Given the description of an element on the screen output the (x, y) to click on. 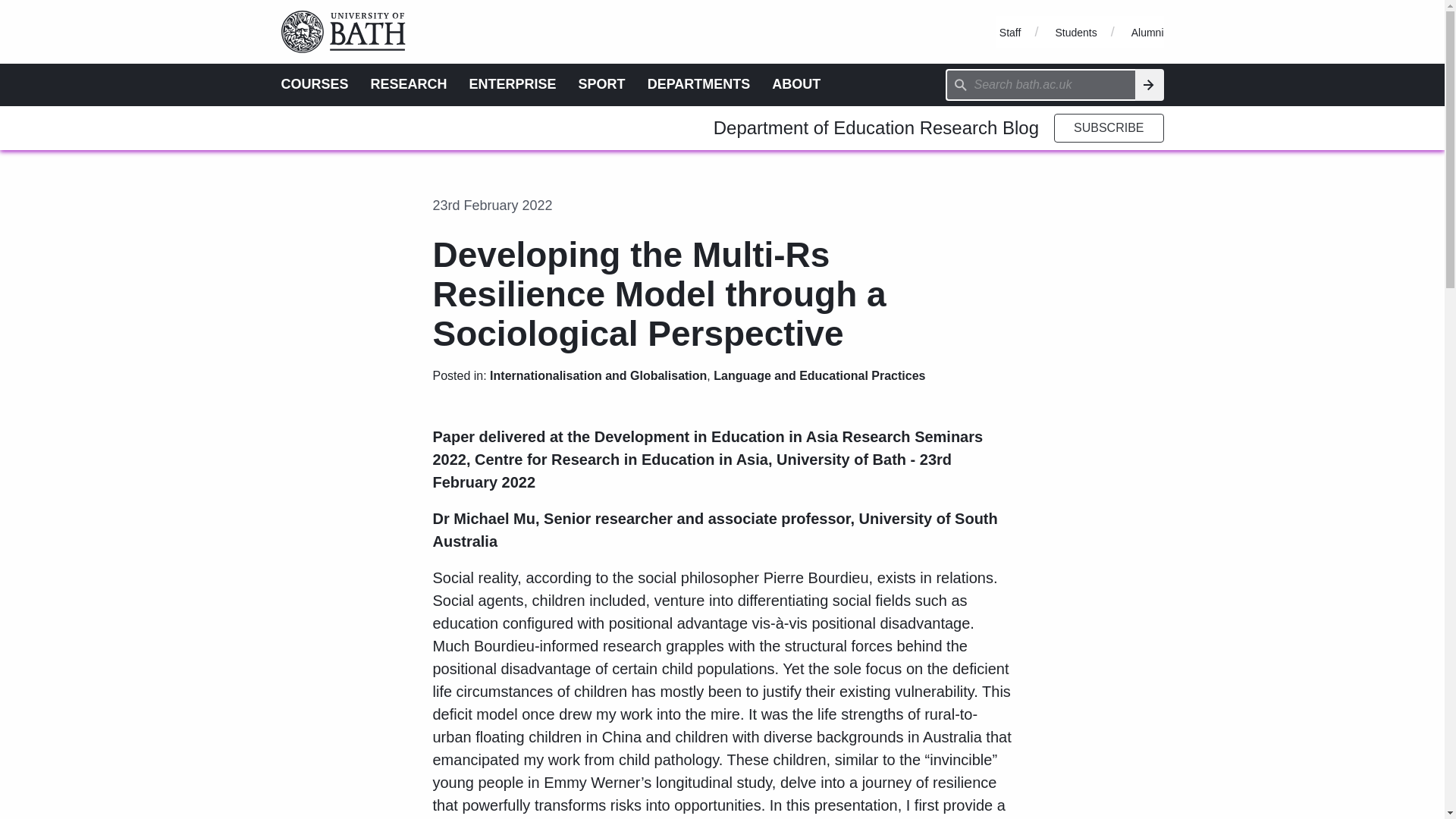
Students (1075, 32)
Language and Educational Practices (818, 375)
Type search term here (1039, 84)
ABOUT (796, 83)
SPORT (602, 83)
Internationalisation and Globalisation (597, 375)
Staff (1010, 32)
COURSES (314, 83)
ENTERPRISE (512, 83)
SUBSCRIBE (1108, 127)
DEPARTMENTS (699, 83)
Alumni (1147, 32)
University of Bath (348, 6)
RESEARCH (408, 83)
Department of Education Research Blog (876, 127)
